Given the description of an element on the screen output the (x, y) to click on. 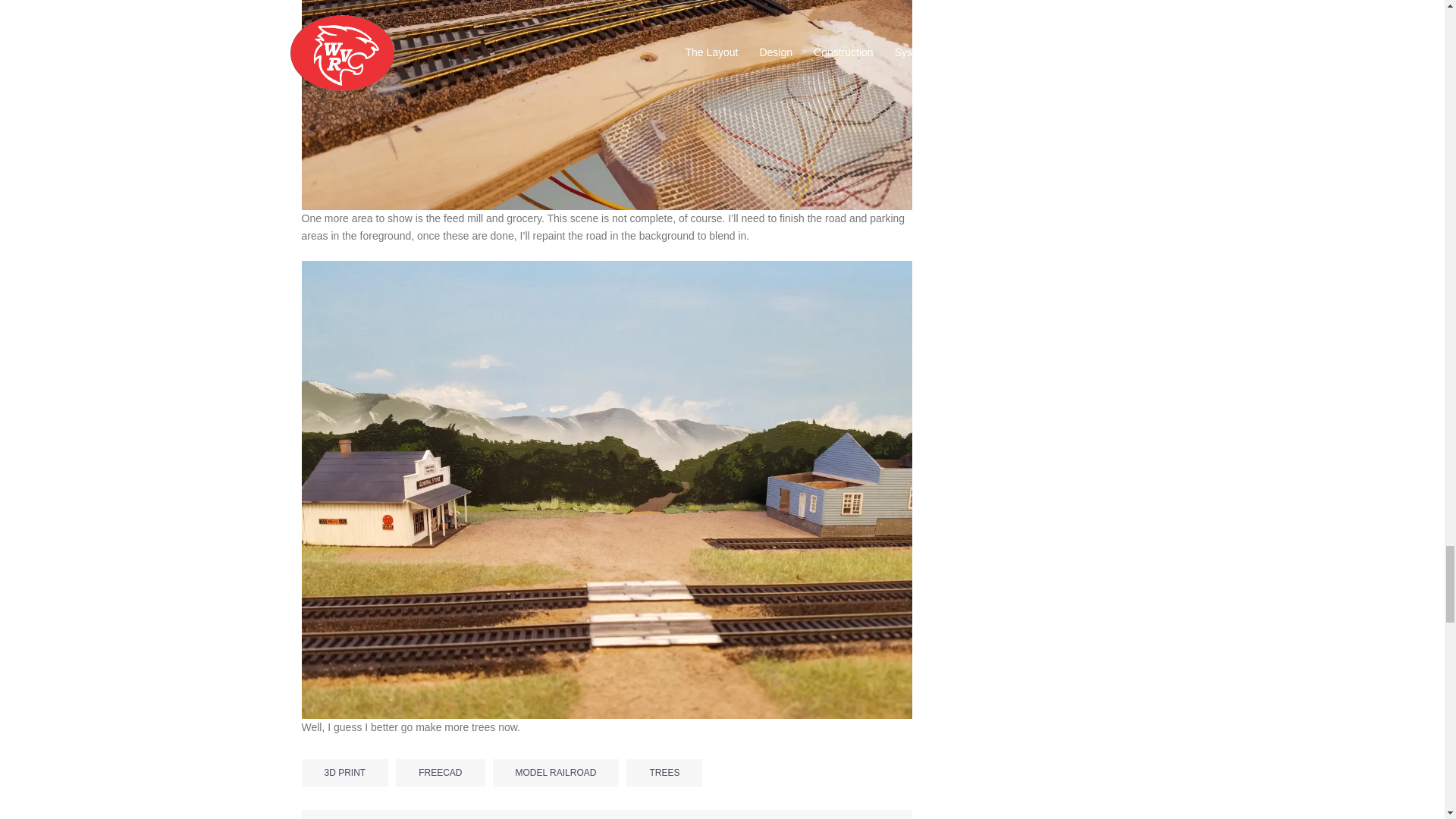
FREECAD (440, 772)
MODEL RAILROAD (556, 772)
TREES (663, 772)
3D PRINT (344, 772)
